Given the description of an element on the screen output the (x, y) to click on. 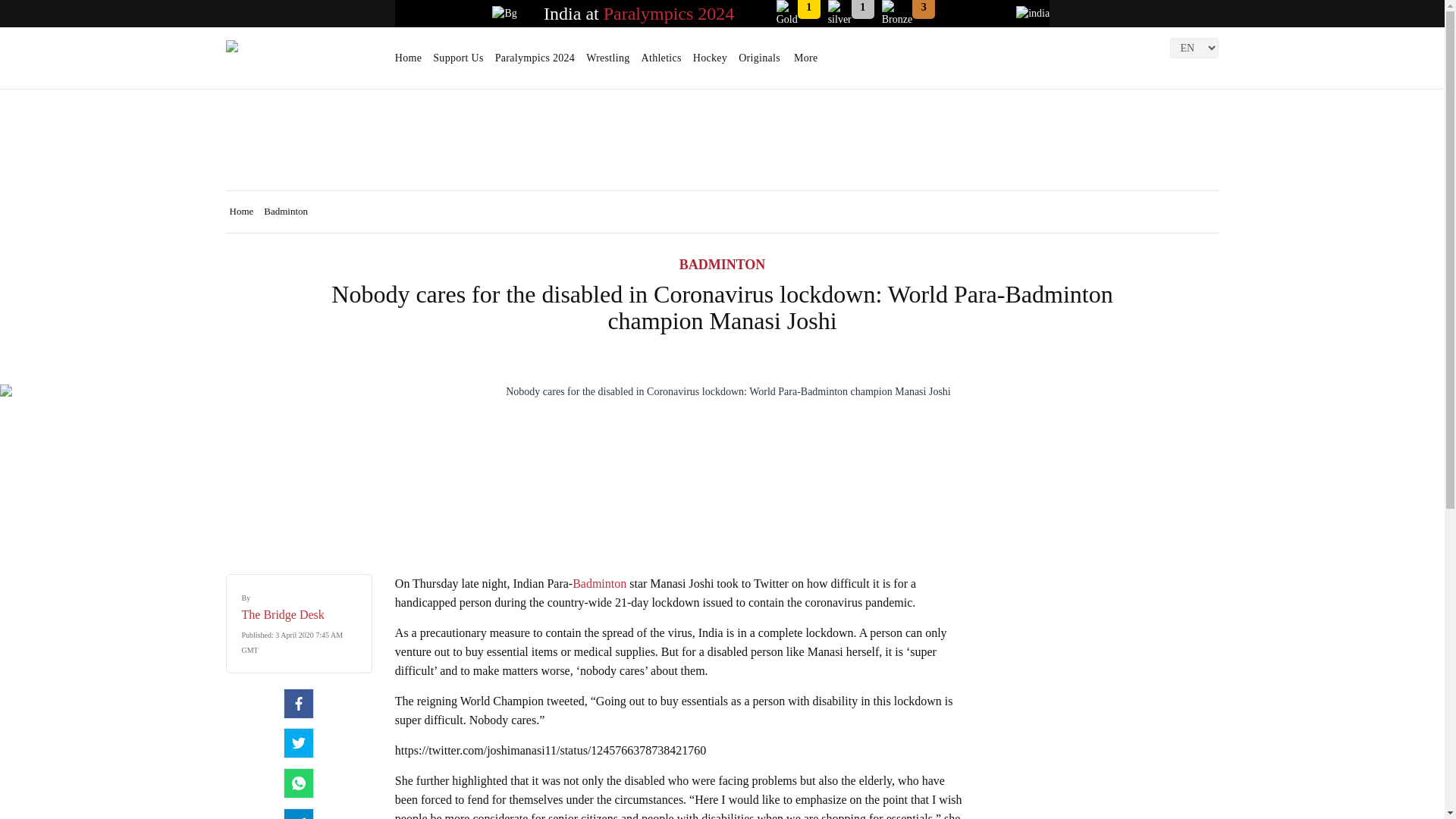
Support Us (457, 63)
Wrestling (607, 63)
Paralympics 2024 (535, 63)
Paralympics 2024 (669, 13)
